Given the description of an element on the screen output the (x, y) to click on. 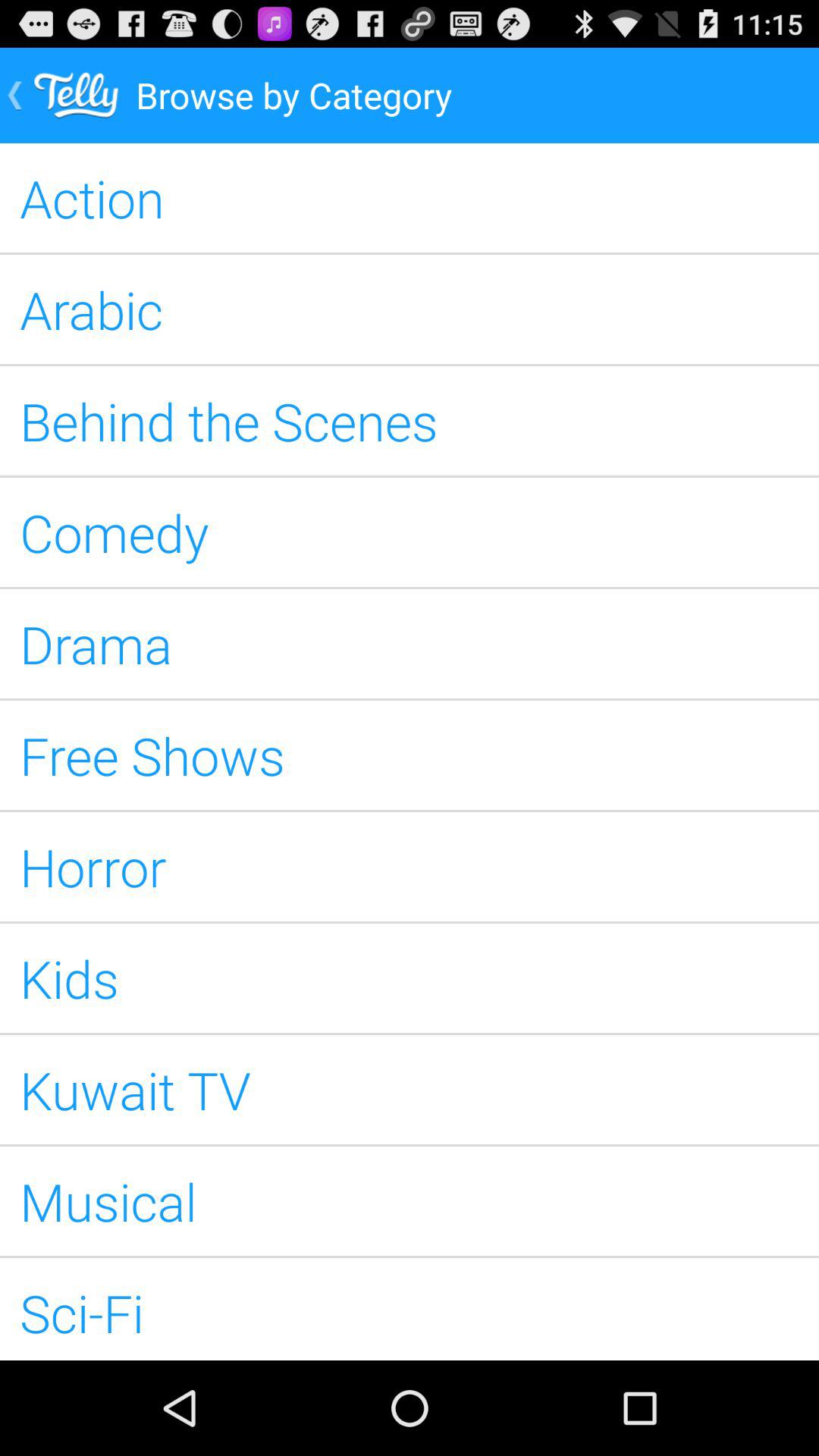
open the arabic icon (409, 309)
